Given the description of an element on the screen output the (x, y) to click on. 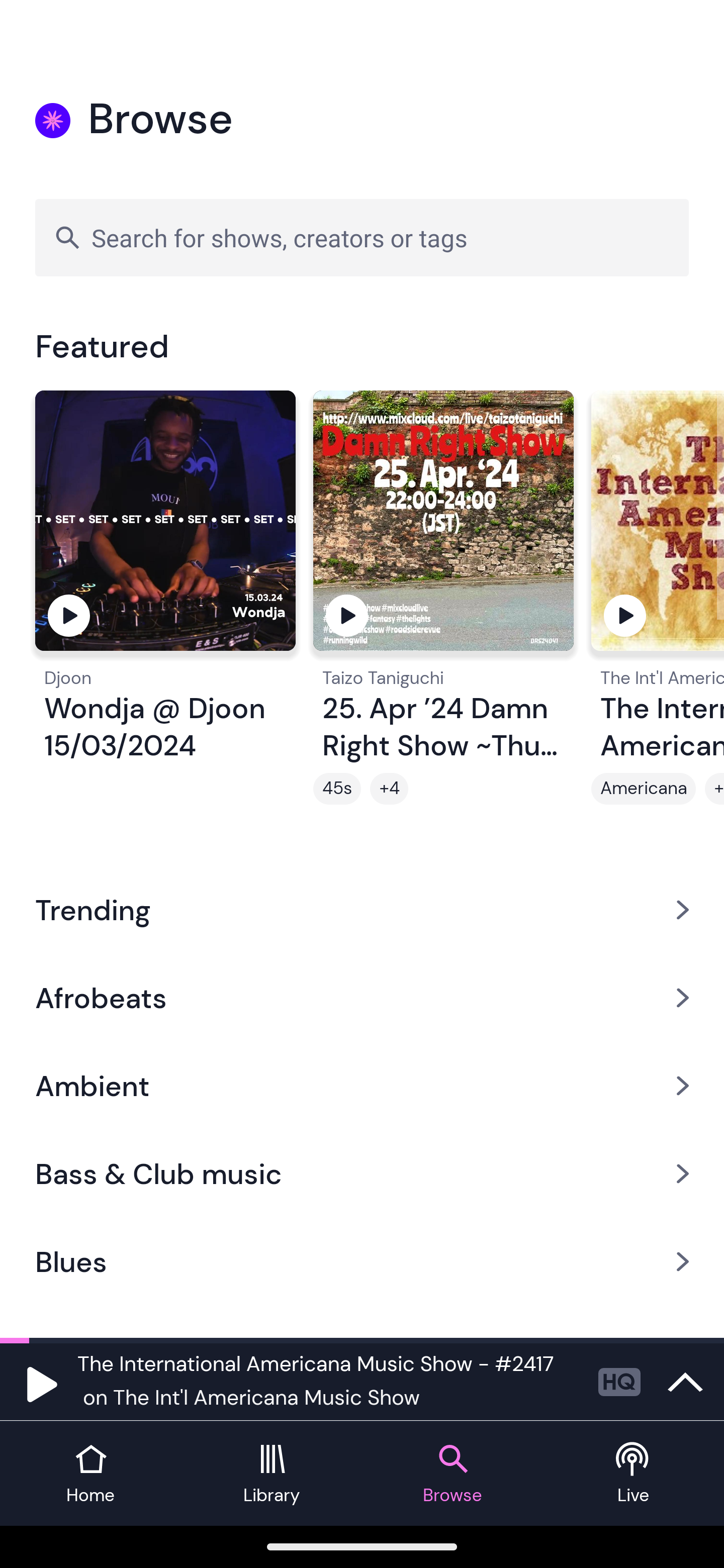
Search for shows, creators or tags (361, 237)
45s (337, 788)
Americana (643, 788)
Trending (361, 909)
Afrobeats (361, 997)
Ambient (361, 1085)
Bass & Club music (361, 1174)
Blues (361, 1262)
Home tab Home (90, 1473)
Library tab Library (271, 1473)
Browse tab Browse (452, 1473)
Live tab Live (633, 1473)
